Given the description of an element on the screen output the (x, y) to click on. 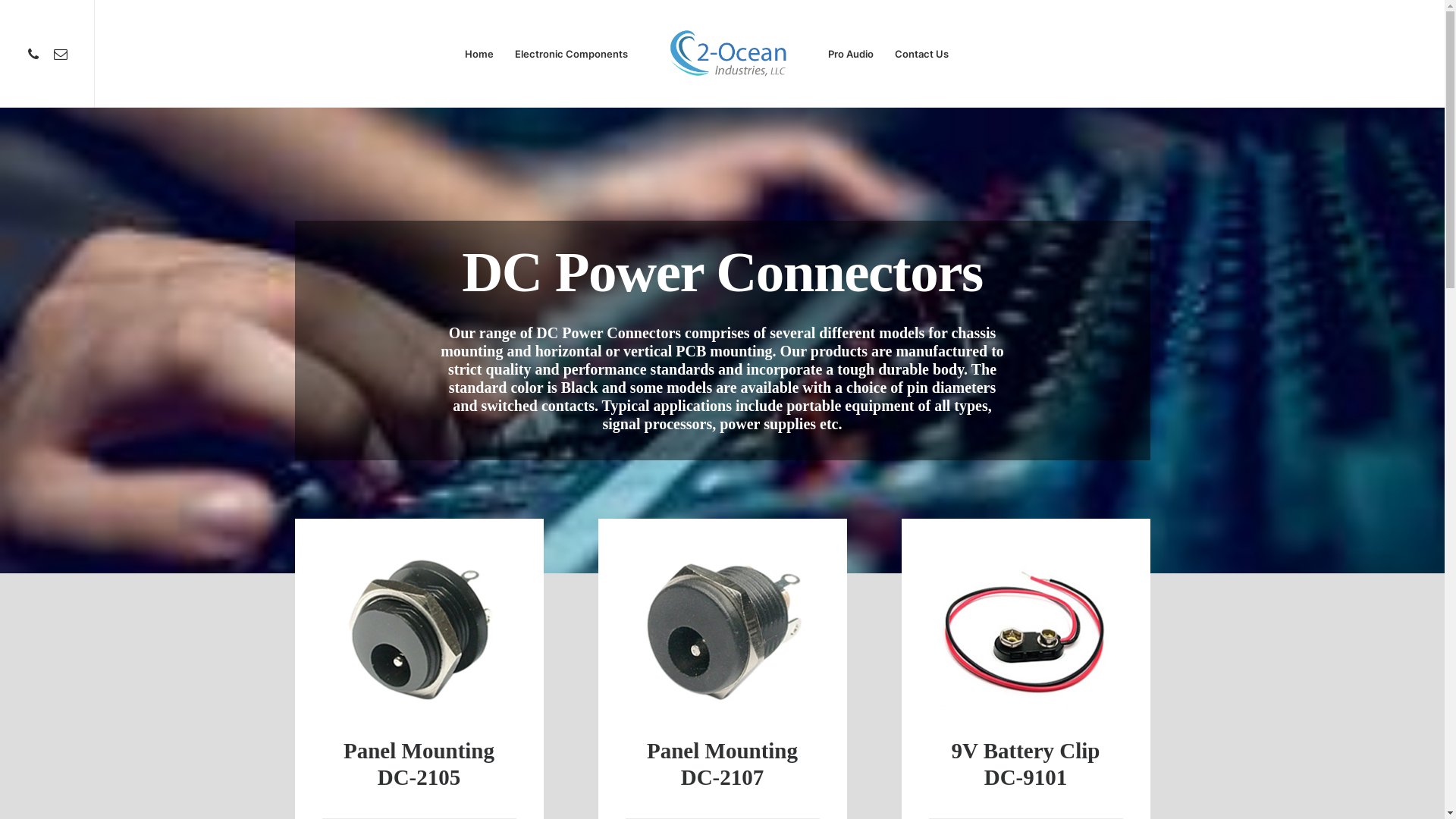
Pro Audio Element type: text (850, 53)
Electronic Components Element type: text (571, 53)
Contact Us Element type: text (921, 53)
Home Element type: text (479, 53)
